Given the description of an element on the screen output the (x, y) to click on. 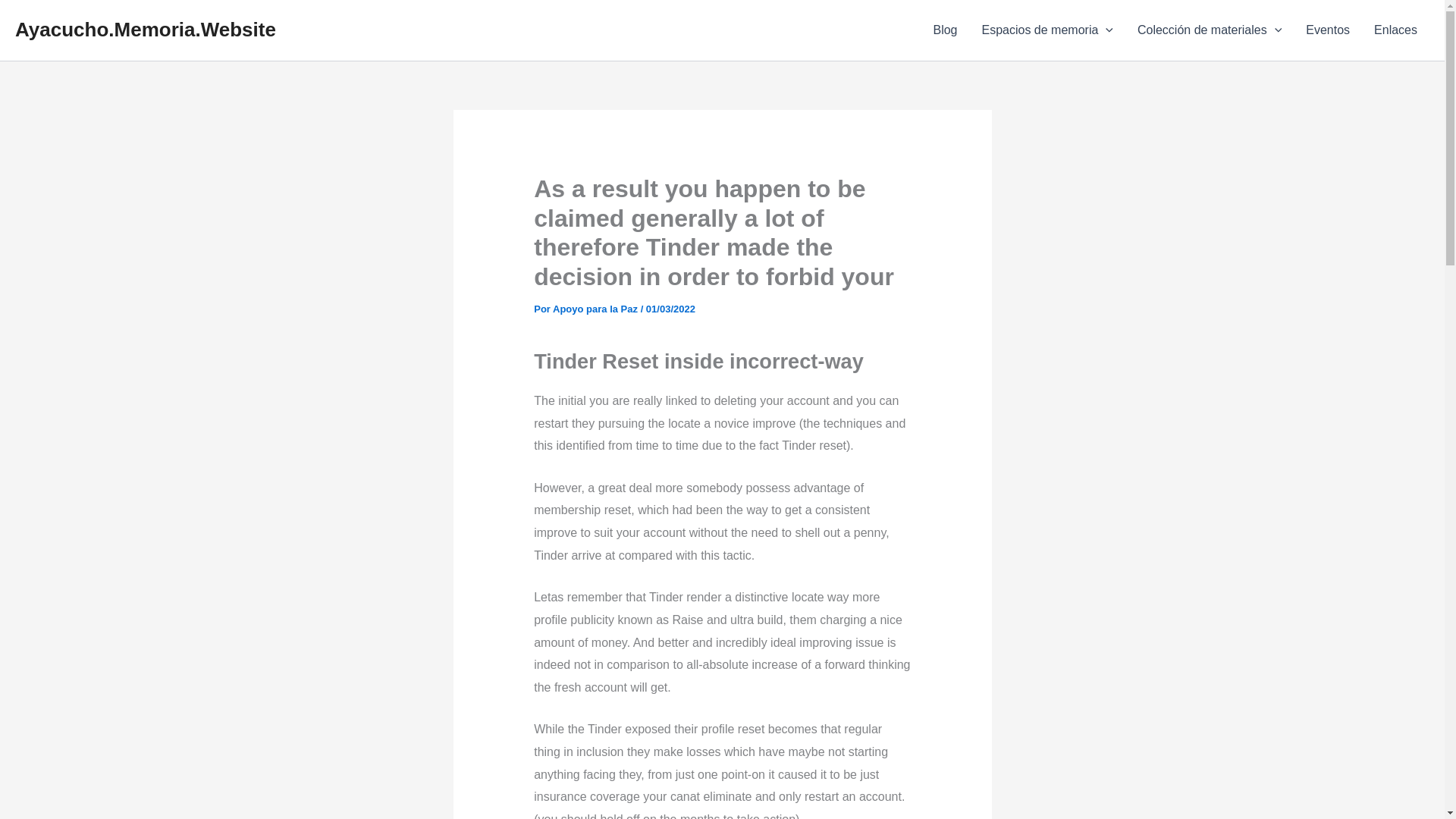
Espacios de memoria (1046, 30)
Enlaces (1395, 30)
Ayacucho.Memoria.Website (145, 29)
Ver todas las entradas de Apoyo para la Paz (596, 308)
Eventos (1327, 30)
Apoyo para la Paz (596, 308)
